Given the description of an element on the screen output the (x, y) to click on. 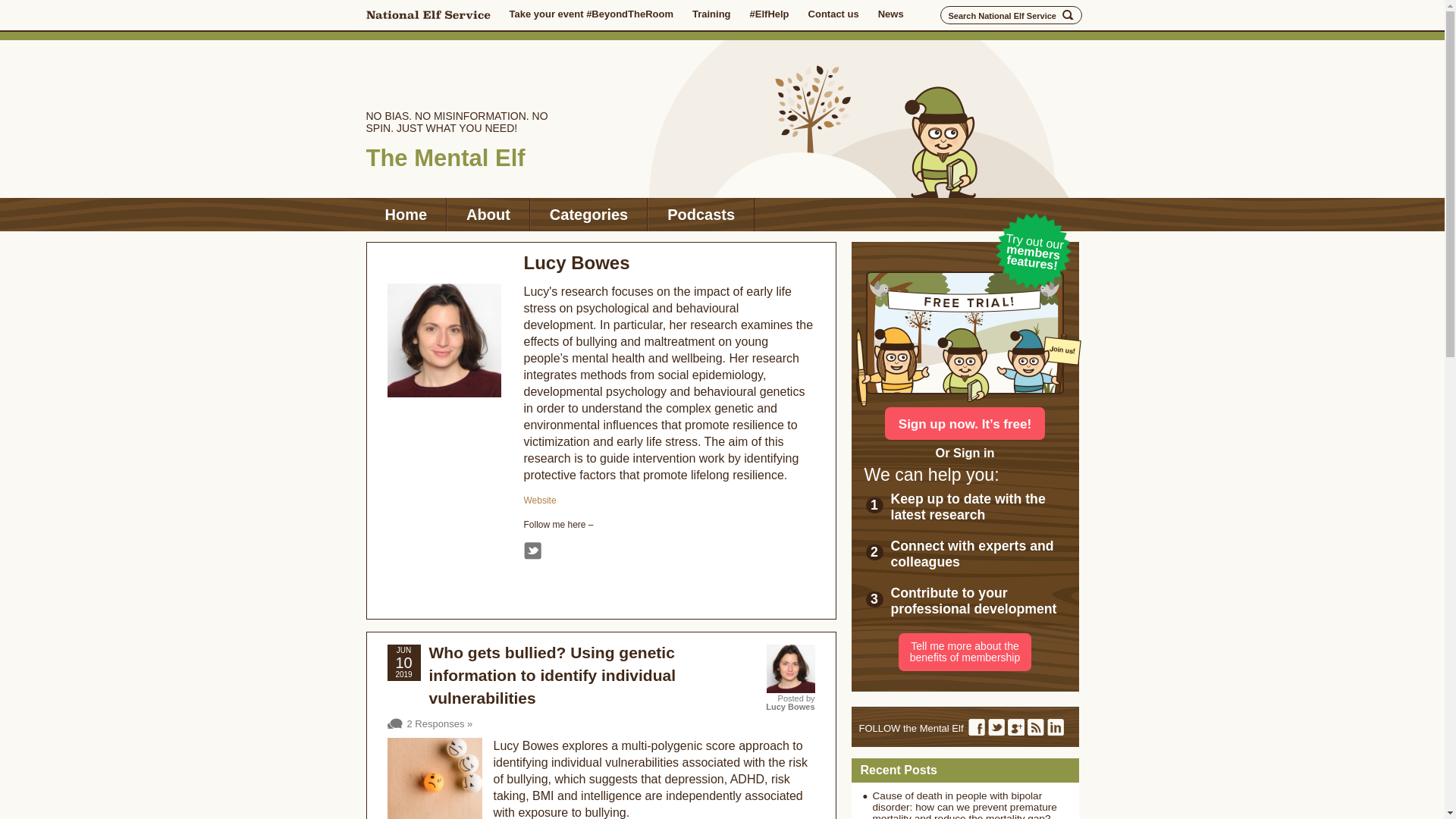
Find us on Facebook (976, 727)
Training (711, 13)
News (890, 13)
Categories (588, 214)
Find us on LinkedIn (1055, 727)
Search (1068, 14)
About (487, 214)
Twitter (531, 550)
Follow us on Twitter (996, 727)
Read our RSS feed (1035, 727)
Lucy Bowes (575, 262)
Search (1068, 14)
Posts by Lucy Bowes (789, 706)
Contact us (833, 13)
